Given the description of an element on the screen output the (x, y) to click on. 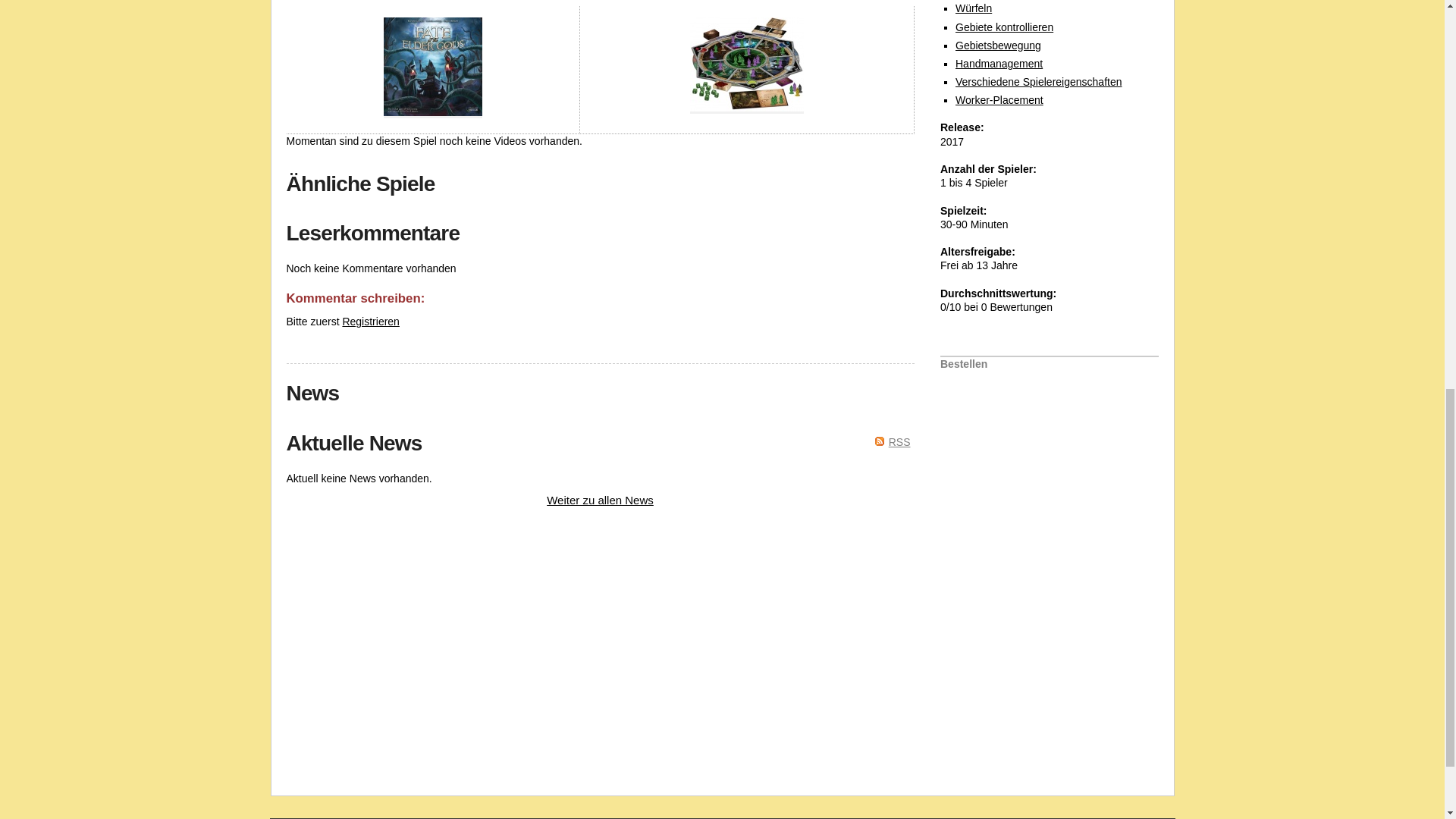
Gebietsbewegung (998, 45)
Handmanagement (998, 63)
Verschiedene Spielereigenschaften (1038, 81)
Worker-Placement (999, 100)
Gebiete kontrollieren (1003, 27)
